Given the description of an element on the screen output the (x, y) to click on. 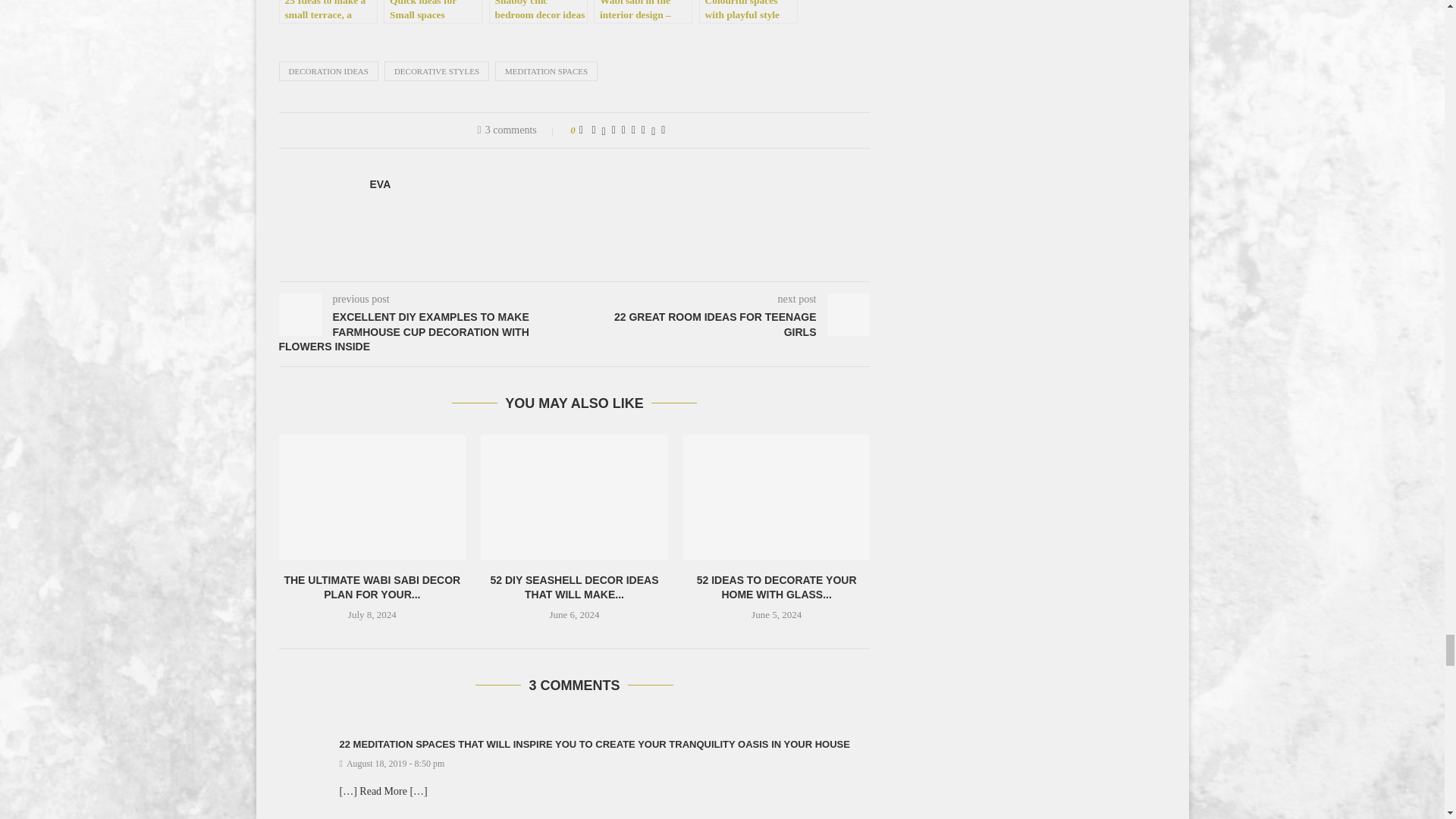
52 DIY Seashell Decor Ideas That Will Make Your Home Shine (574, 496)
Quick ideas for Small spaces (432, 11)
Colourful spaces with playful style (747, 11)
The Ultimate Wabi Sabi Decor Plan for Your Entire Home (372, 496)
Quick ideas for Small spaces (432, 11)
Author Eva (380, 184)
